Given the description of an element on the screen output the (x, y) to click on. 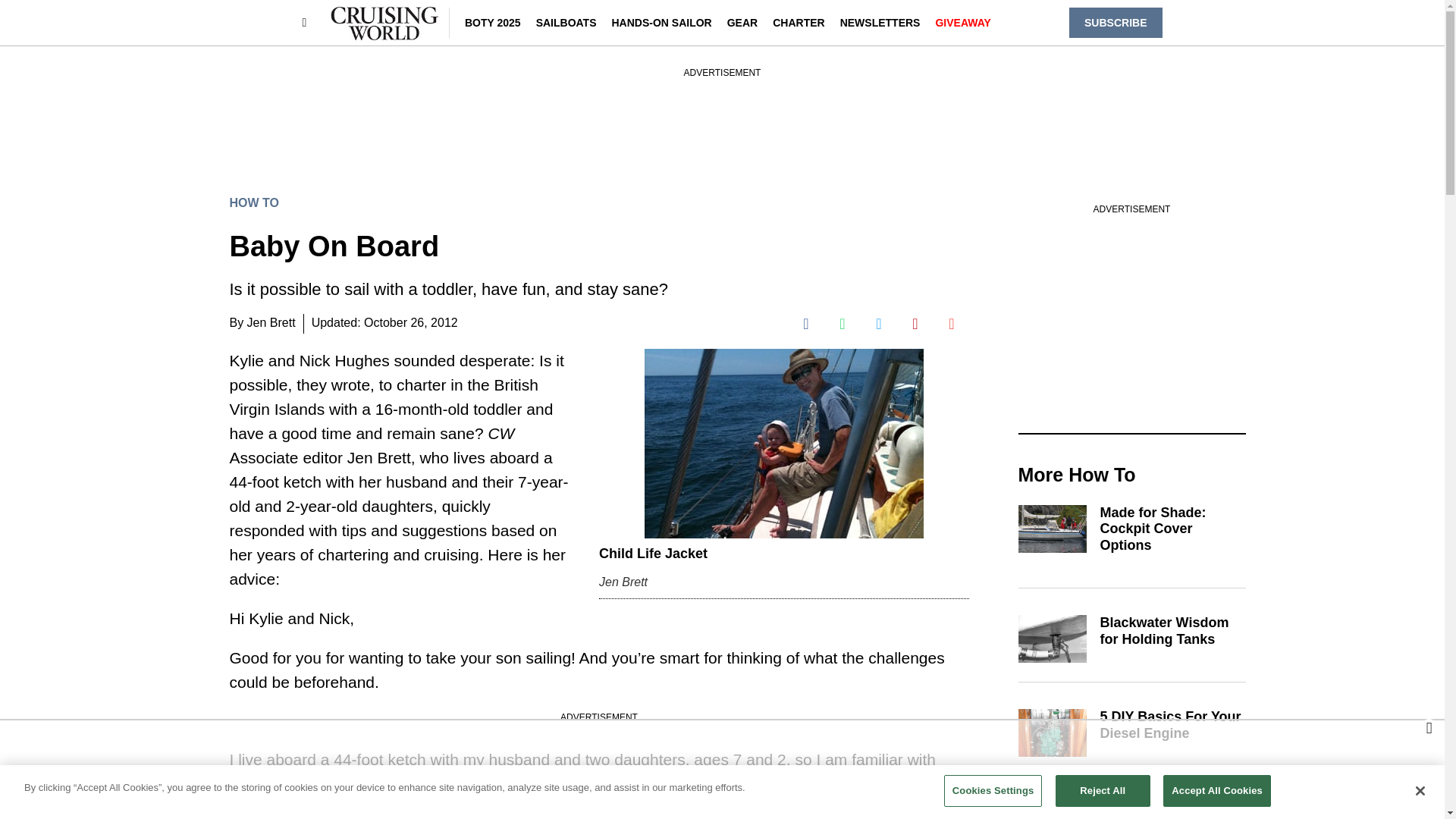
HANDS-ON SAILOR (661, 22)
SAILBOATS (565, 22)
3rd party ad content (721, 769)
3rd party ad content (721, 114)
GEAR (741, 22)
BOTY 2025 (492, 22)
3rd party ad content (1130, 311)
